Given the description of an element on the screen output the (x, y) to click on. 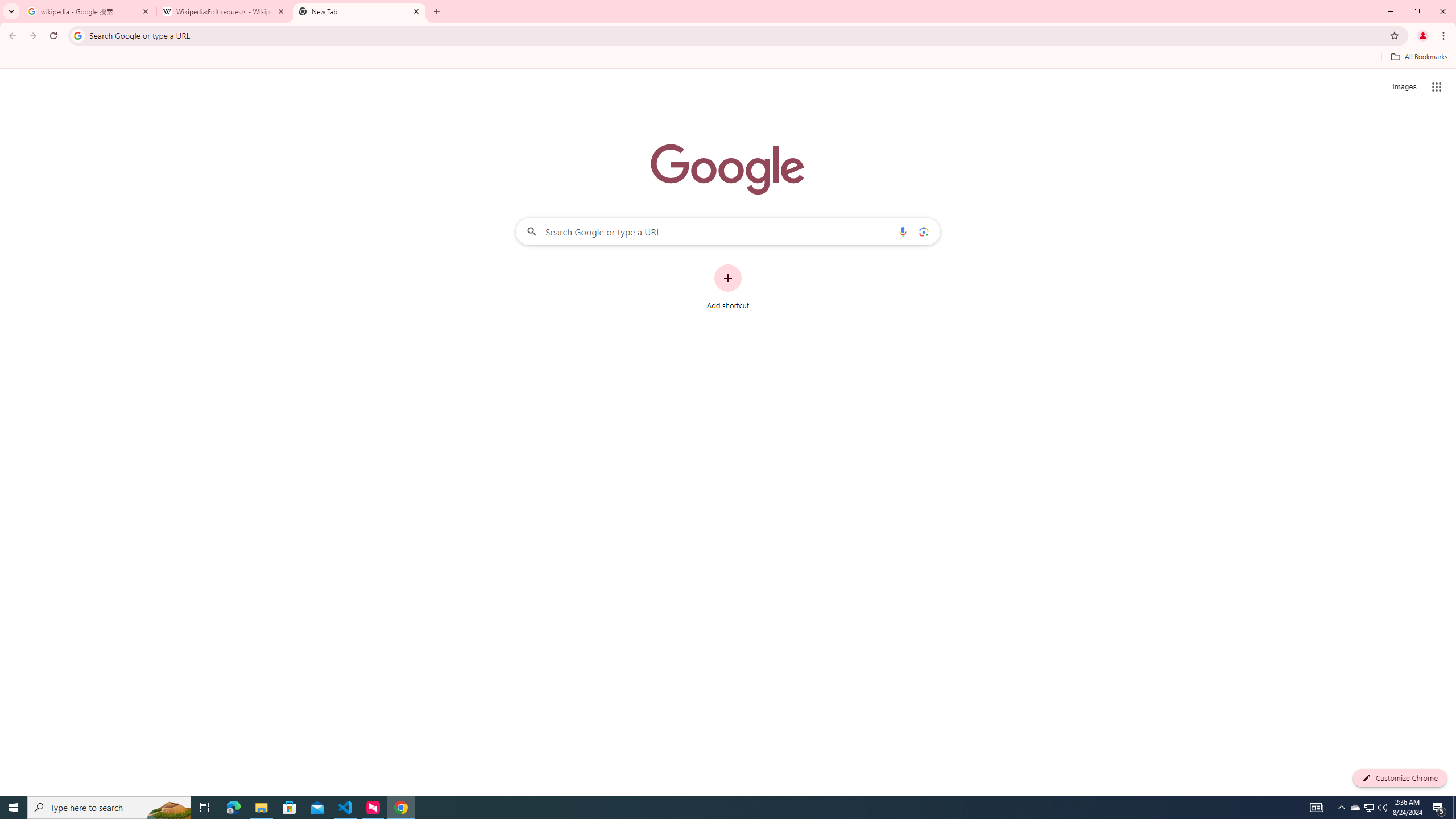
All Bookmarks (1418, 56)
Customize Chrome (1399, 778)
Wikipedia:Edit requests - Wikipedia (224, 11)
Search for Images  (1403, 87)
Google apps (1436, 86)
Search by voice (902, 230)
